Given the description of an element on the screen output the (x, y) to click on. 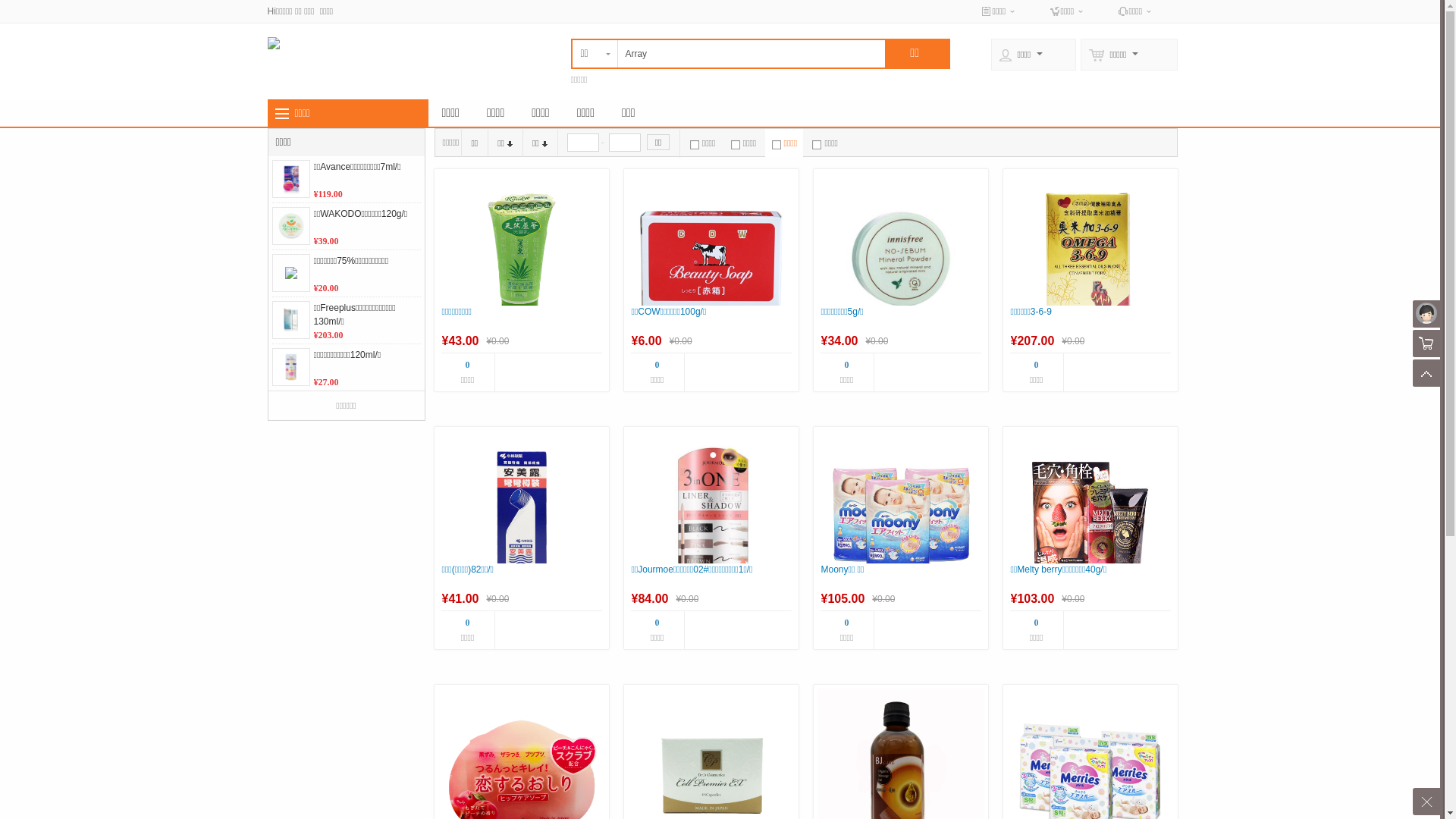
0 Element type: text (1036, 622)
0 Element type: text (467, 622)
0 Element type: text (846, 364)
0 Element type: text (846, 622)
0 Element type: text (1036, 364)
0 Element type: text (657, 364)
0 Element type: text (657, 622)
0 Element type: text (467, 364)
